Given the description of an element on the screen output the (x, y) to click on. 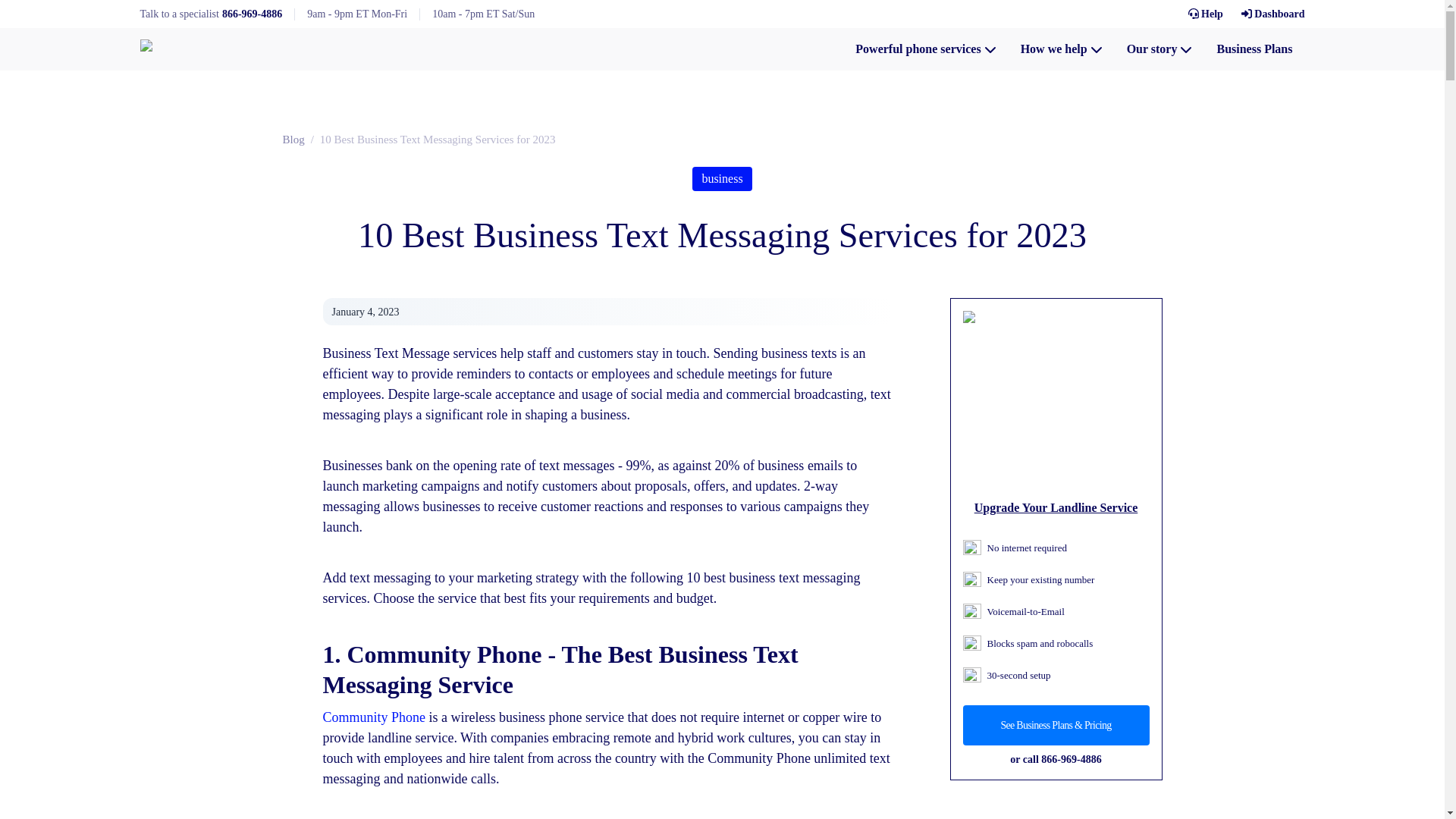
866-969-4886 (252, 13)
Blog (293, 139)
Community Phone (374, 717)
How we help (1062, 49)
Powerful phone services (925, 49)
Dashboard (1272, 13)
Business Plans (1254, 49)
Help (1205, 13)
Our story (1160, 49)
business (722, 178)
866-969-4886 (1070, 758)
